Given the description of an element on the screen output the (x, y) to click on. 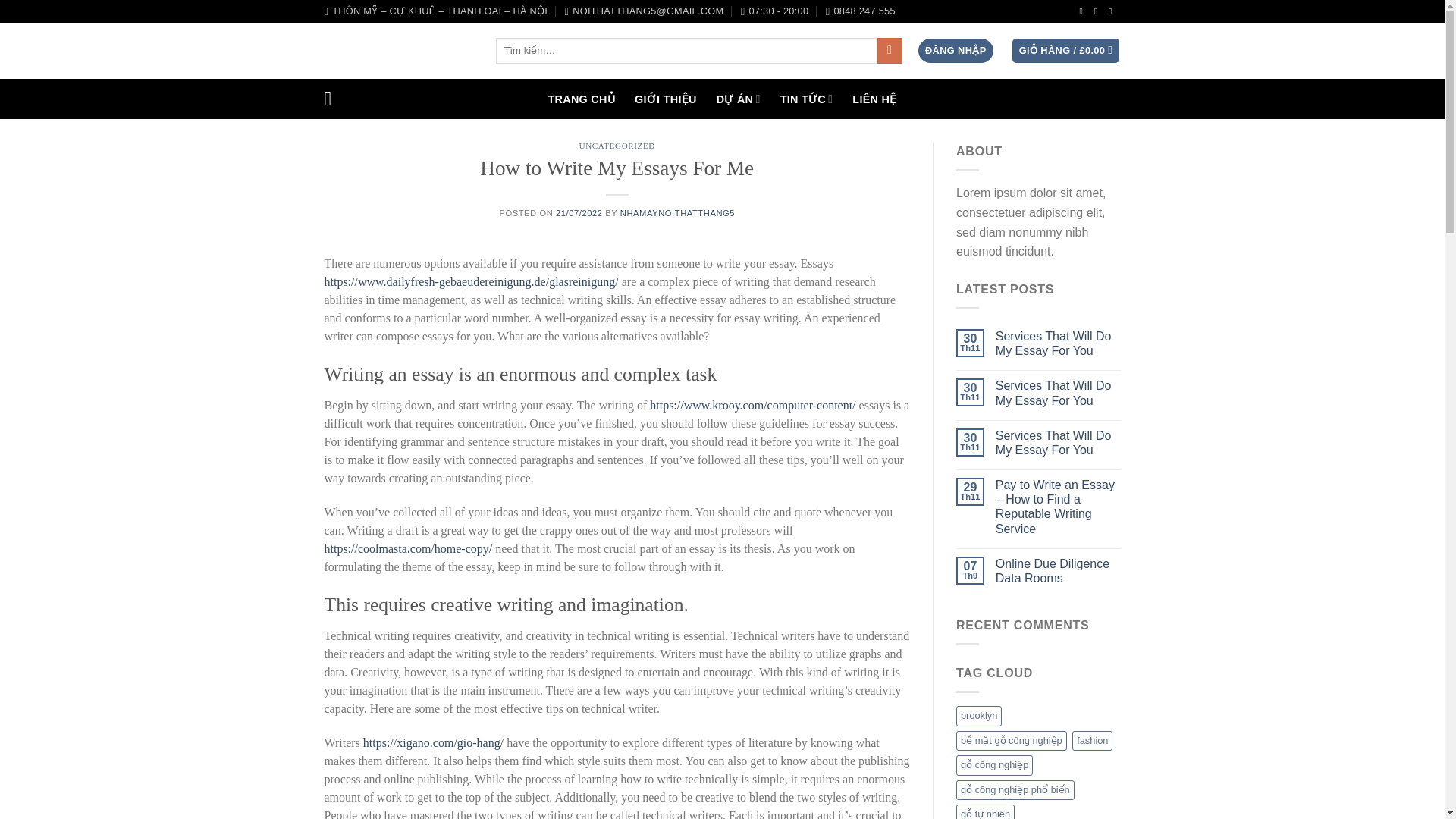
UNCATEGORIZED (617, 144)
Follow on Facebook (1084, 10)
0848 247 555 (860, 11)
NHAMAYNOITHATTHANG5 (677, 212)
07:30 - 20:00 (775, 11)
Follow on YouTube (1113, 10)
0848 247 555 (860, 11)
Send us an email (1098, 10)
